Given the description of an element on the screen output the (x, y) to click on. 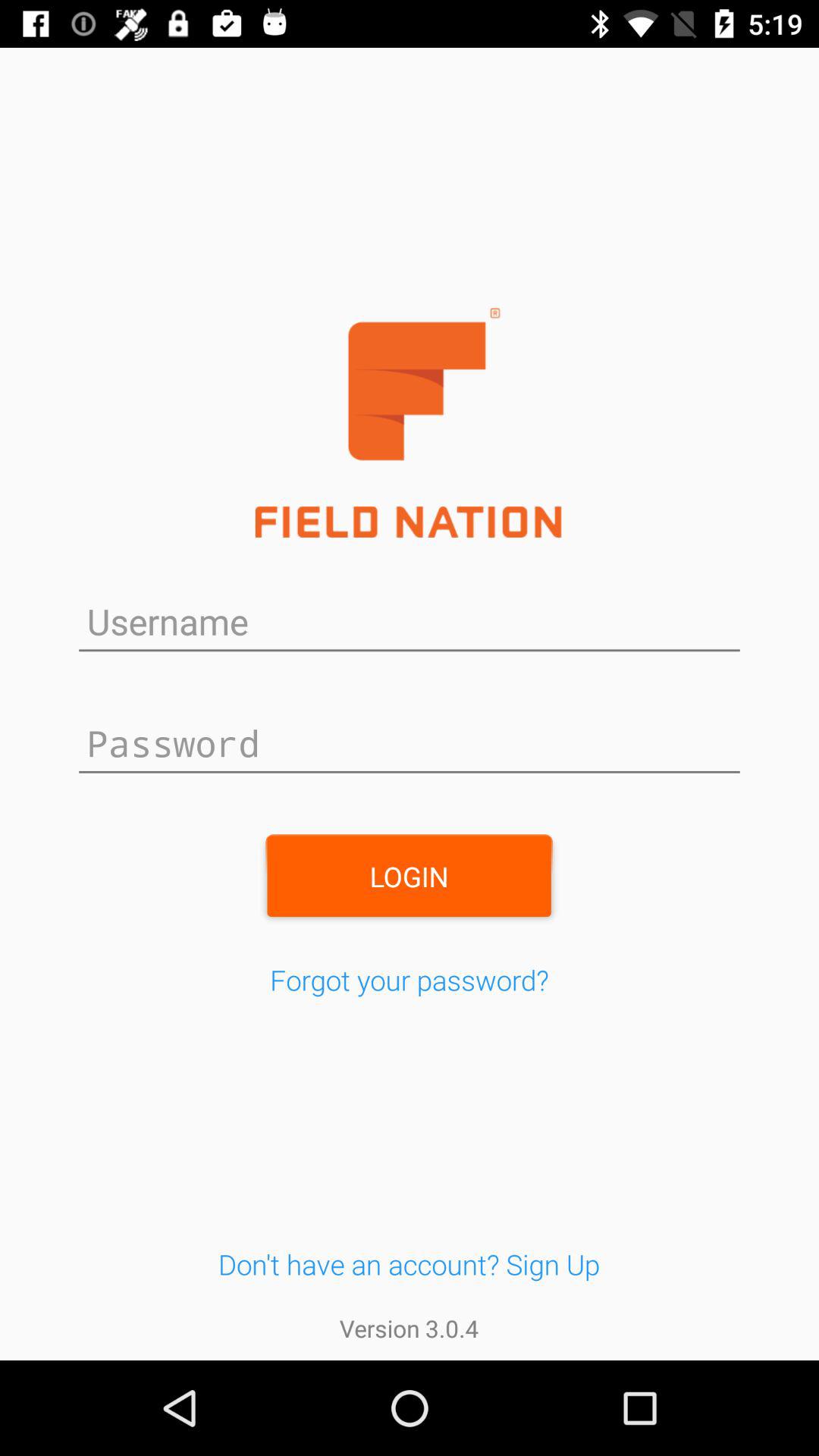
tap the icon below the forgot your password? icon (408, 1264)
